Given the description of an element on the screen output the (x, y) to click on. 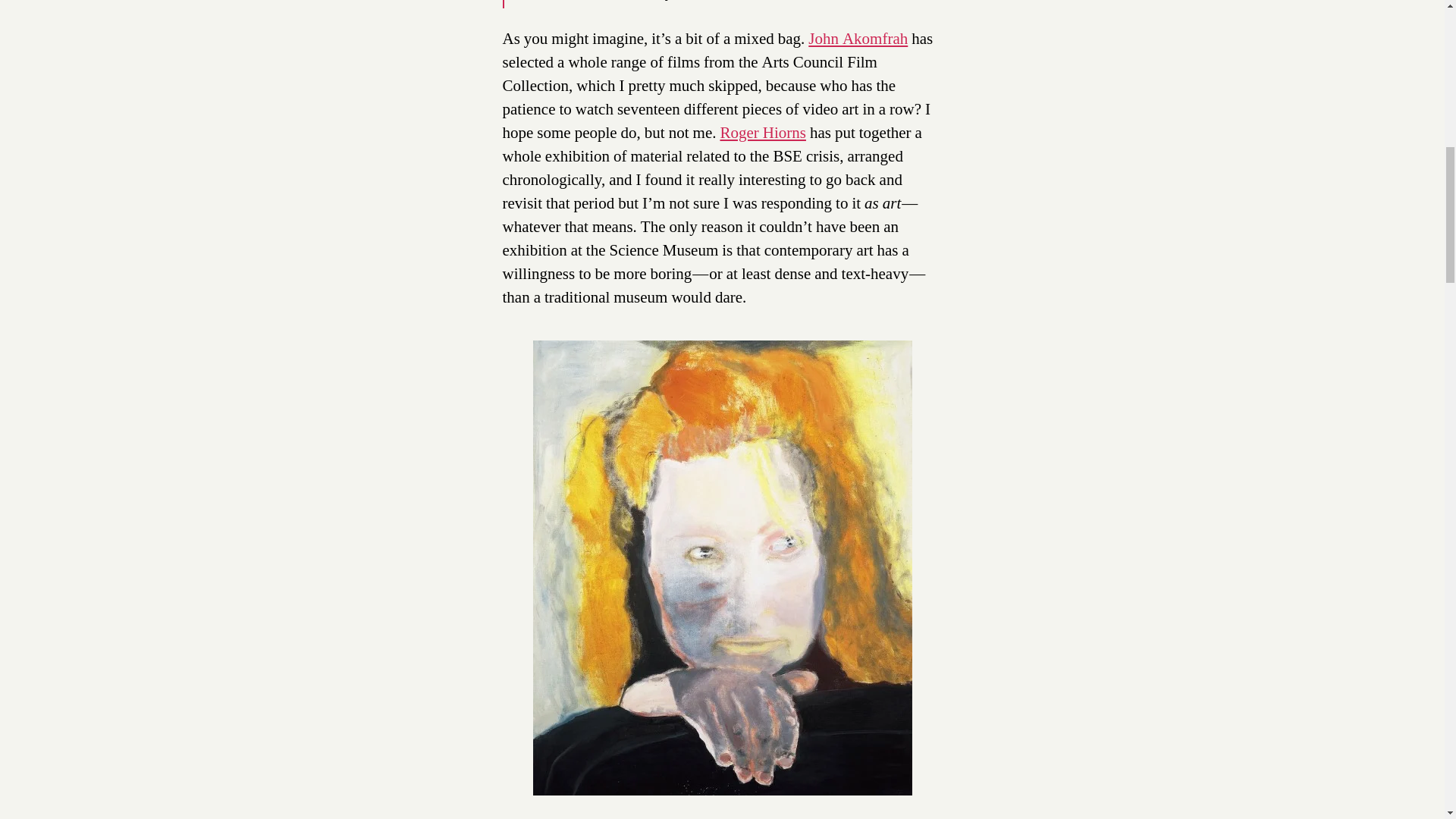
John Akomfrah (857, 38)
Roger Hiorns (762, 132)
